Given the description of an element on the screen output the (x, y) to click on. 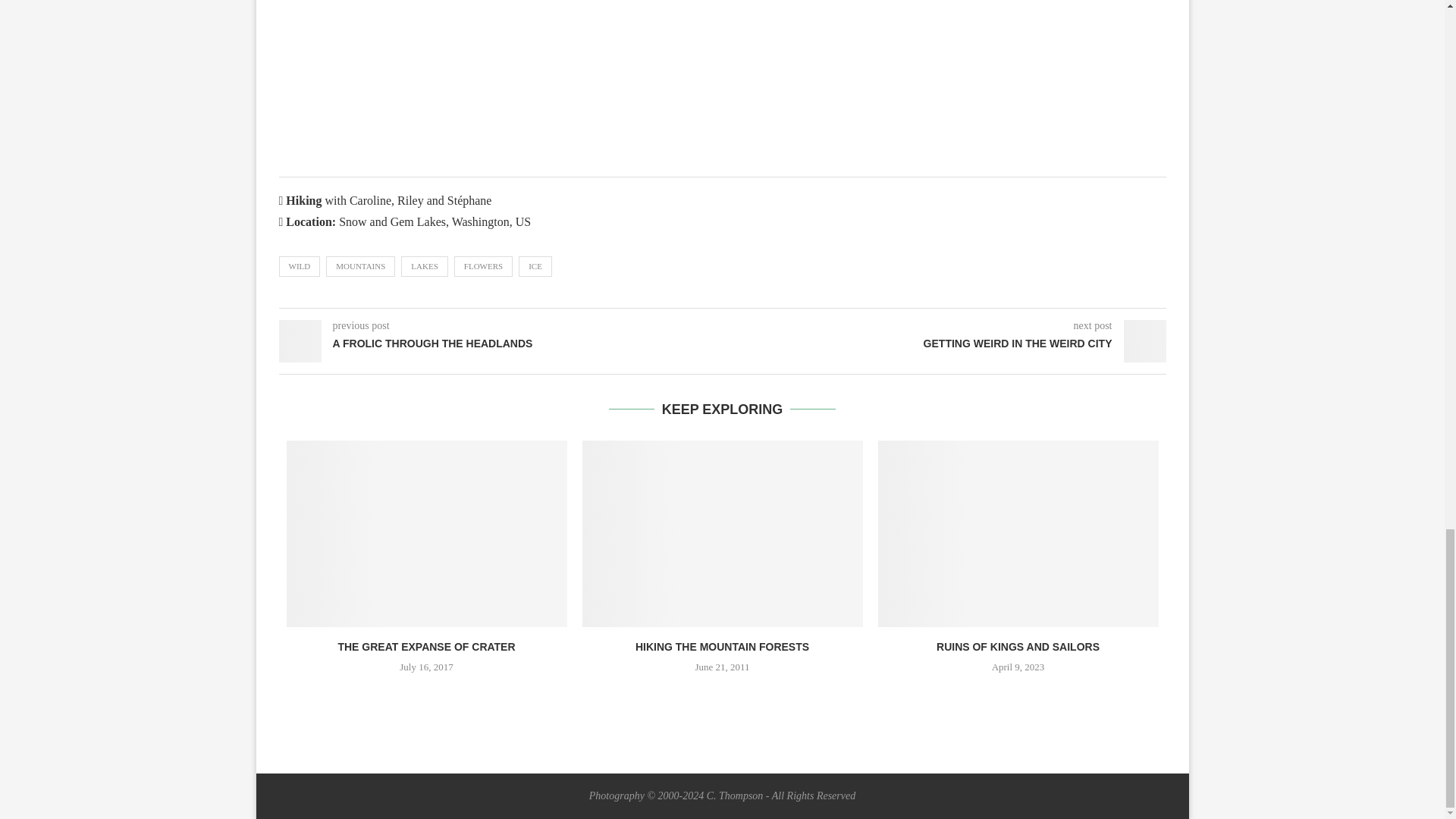
FLOWERS (483, 266)
A FROLIC THROUGH THE HEADLANDS (500, 344)
LAKES (423, 266)
ICE (534, 266)
Hiking the Mountain Forests (722, 534)
Ruins of Kings and Sailors (1017, 534)
MOUNTAINS (360, 266)
The Great Expanse of Crater (426, 534)
WILD (299, 266)
GETTING WEIRD IN THE WEIRD CITY (944, 344)
